Given the description of an element on the screen output the (x, y) to click on. 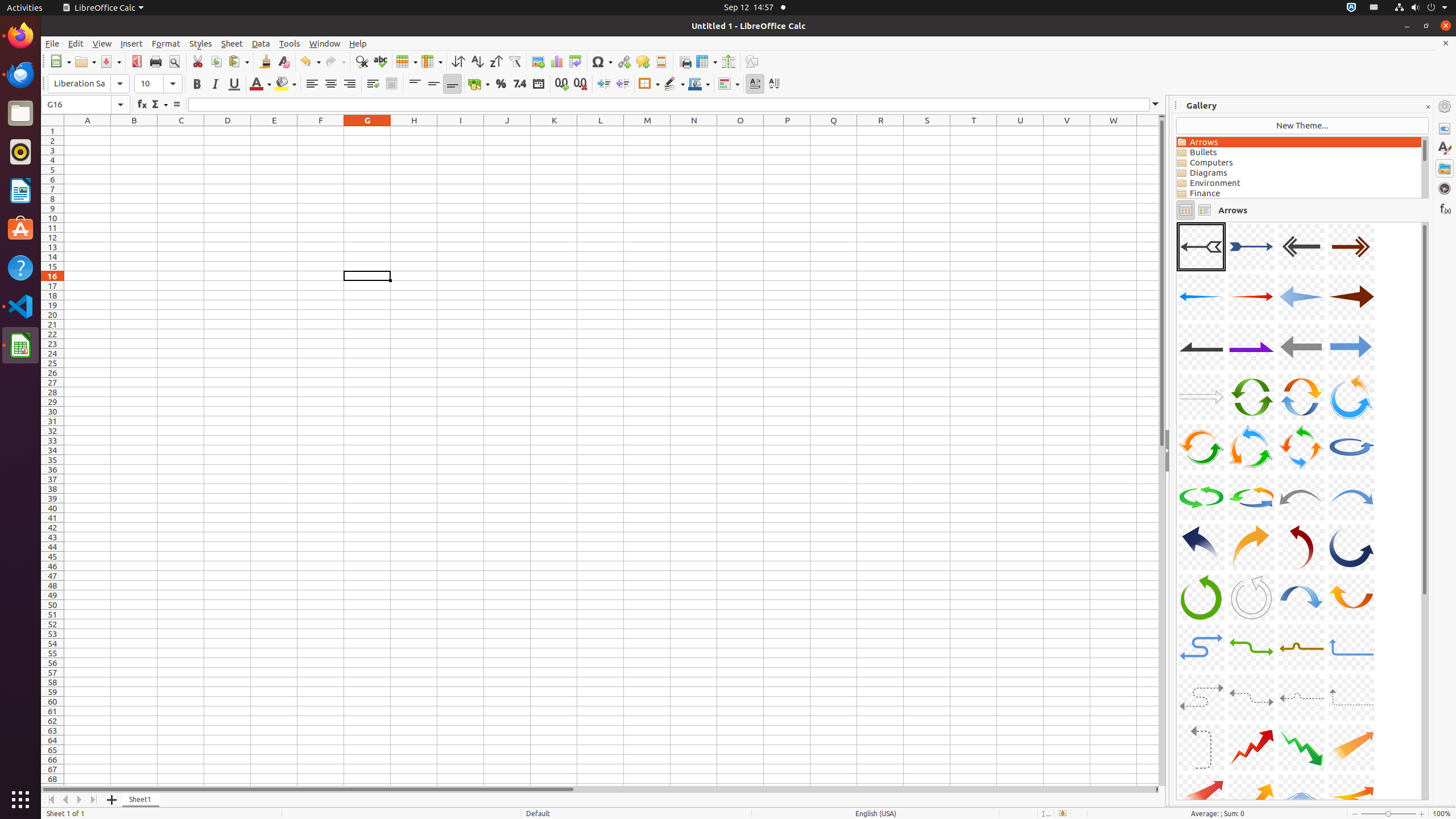
A24-CurvedArrow-LightBlue-Right Element type: list-item (1350, 496)
I1 Element type: table-cell (460, 130)
File Element type: menu (51, 43)
Wrap Text Element type: push-button (372, 83)
Format Element type: menu (165, 43)
